Given the description of an element on the screen output the (x, y) to click on. 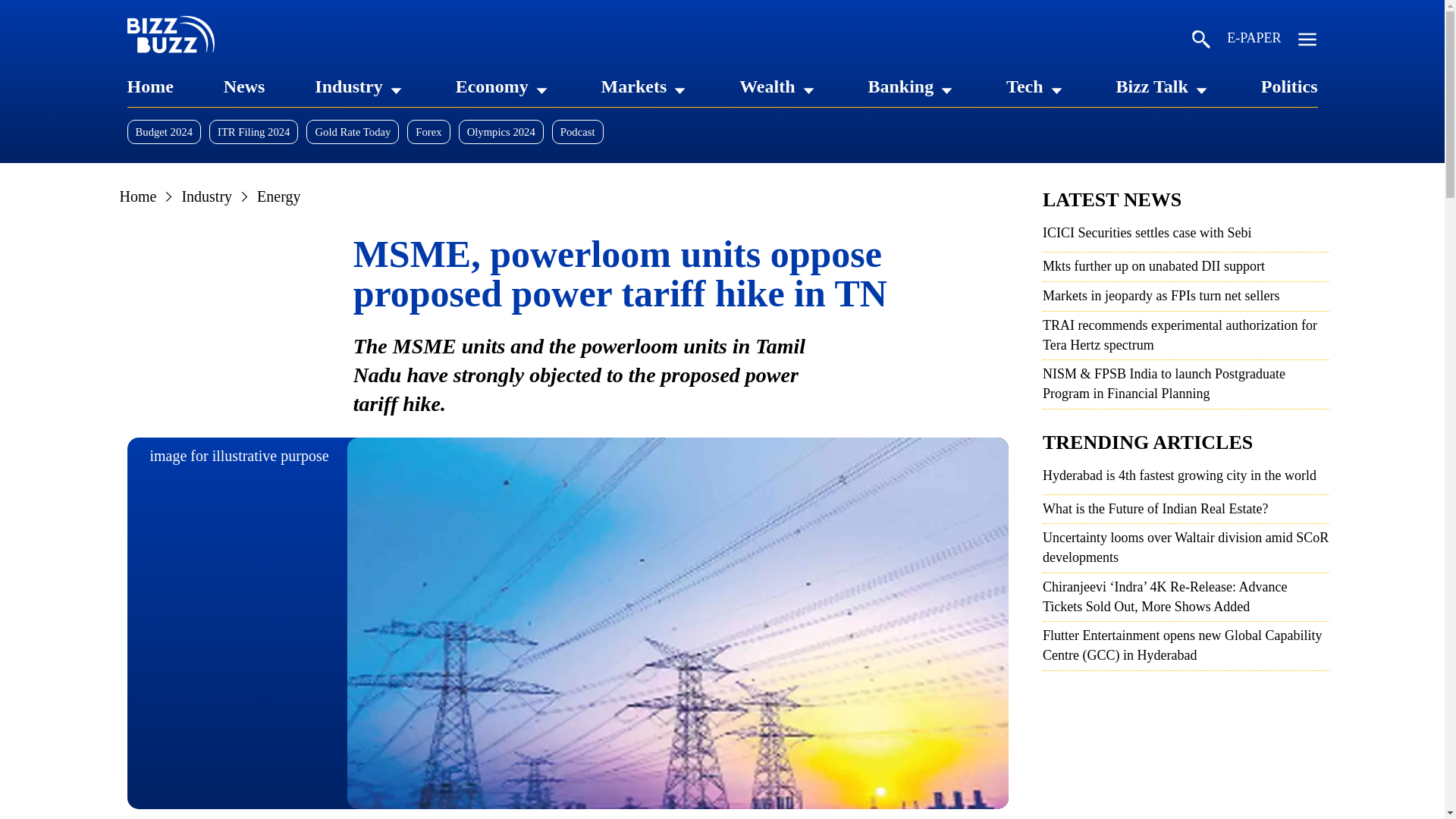
Markets (633, 86)
E-PAPER (1254, 41)
Economy (491, 86)
Wealth (766, 86)
Industry (347, 86)
Home (150, 86)
News (244, 86)
